Given the description of an element on the screen output the (x, y) to click on. 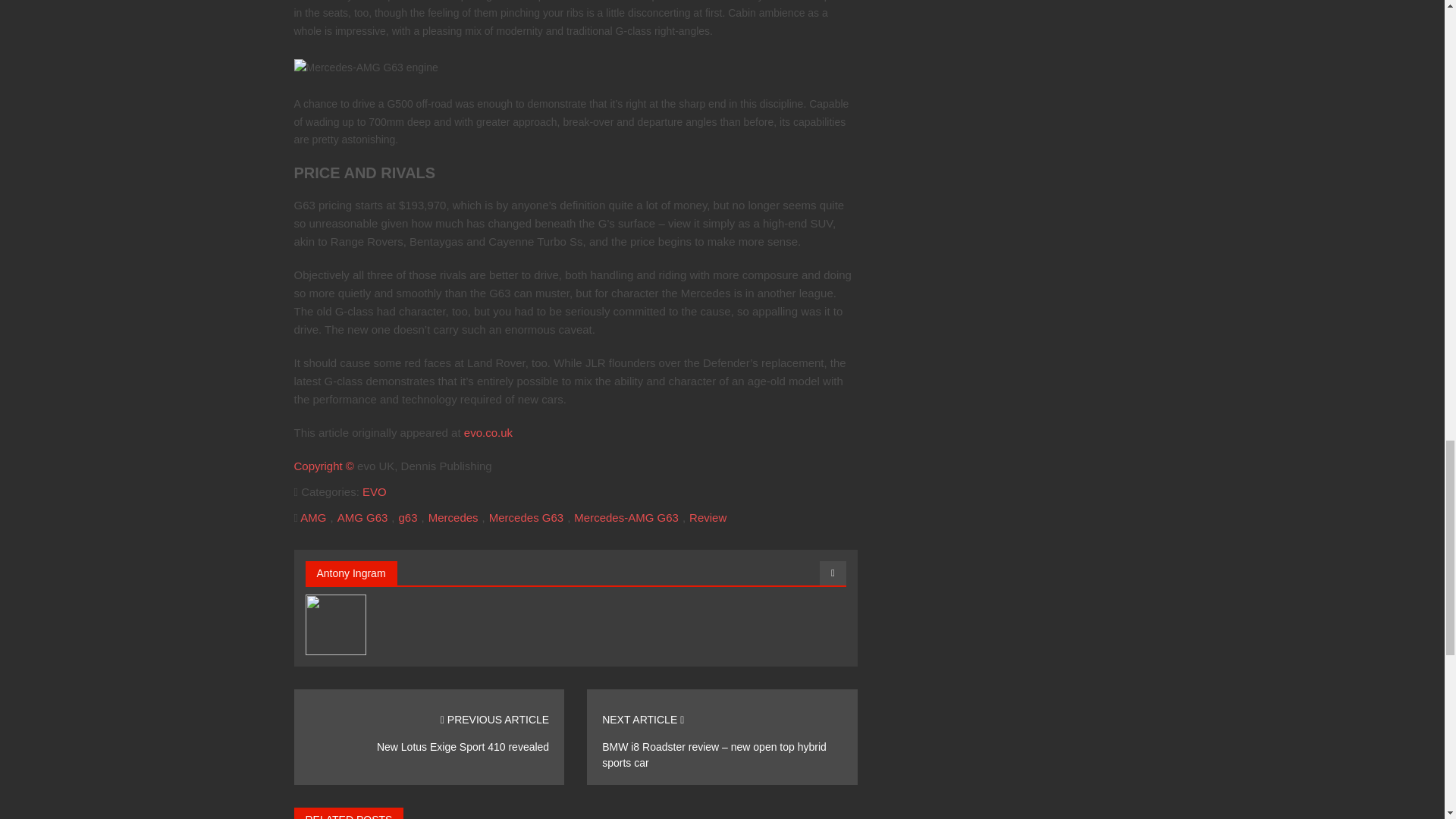
evo.co.uk (488, 431)
Antony Ingram (351, 573)
Mercedes-AMG G63 engine (366, 67)
Mercedes-AMG G63 (625, 517)
EVO (374, 491)
Mercedes (453, 517)
Review (707, 517)
AMG (312, 517)
g63 (407, 517)
AMG G63 (362, 517)
Mercedes G63 (526, 517)
